Given the description of an element on the screen output the (x, y) to click on. 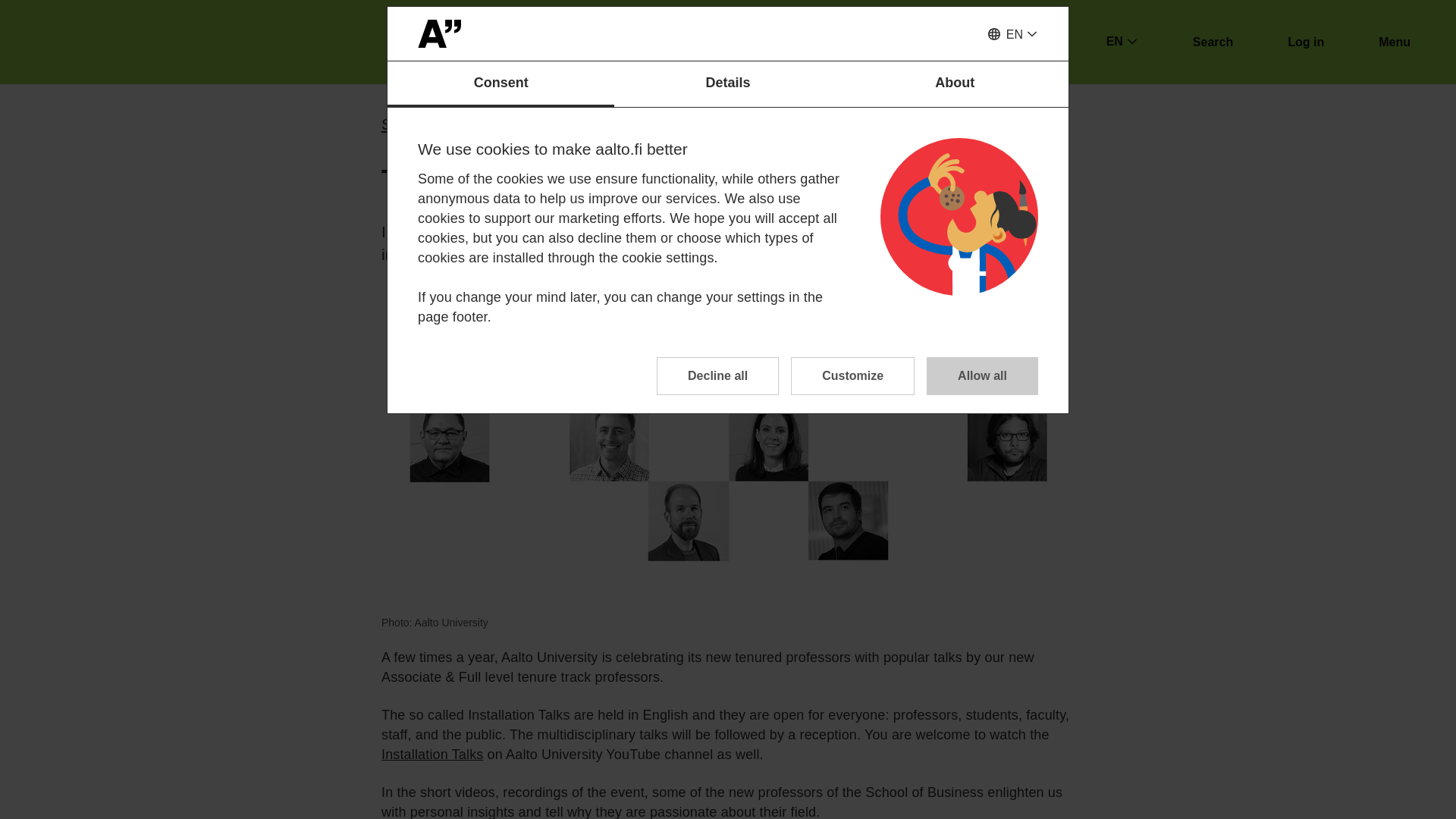
Consent (500, 84)
EN (1011, 34)
Details (727, 84)
About (954, 84)
